Given the description of an element on the screen output the (x, y) to click on. 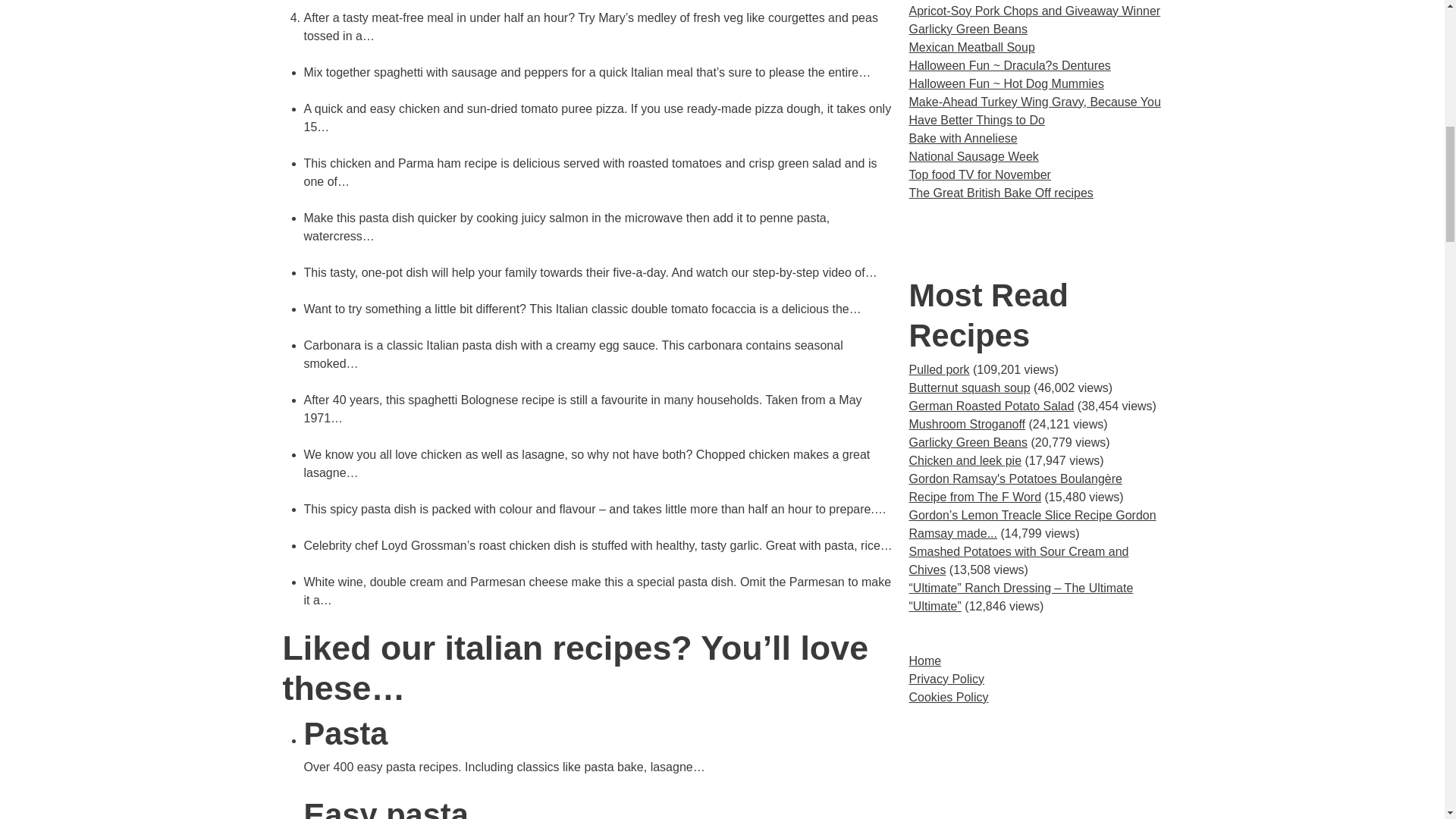
Mushroom Stroganoff (966, 423)
Butternut squash soup (968, 387)
Smashed Potatoes with Sour Cream and Chives (1018, 560)
Garlicky Green Beans (967, 441)
German Roasted Potato Salad (991, 405)
Pulled pork (938, 369)
Chicken and leek pie (965, 460)
